Given the description of an element on the screen output the (x, y) to click on. 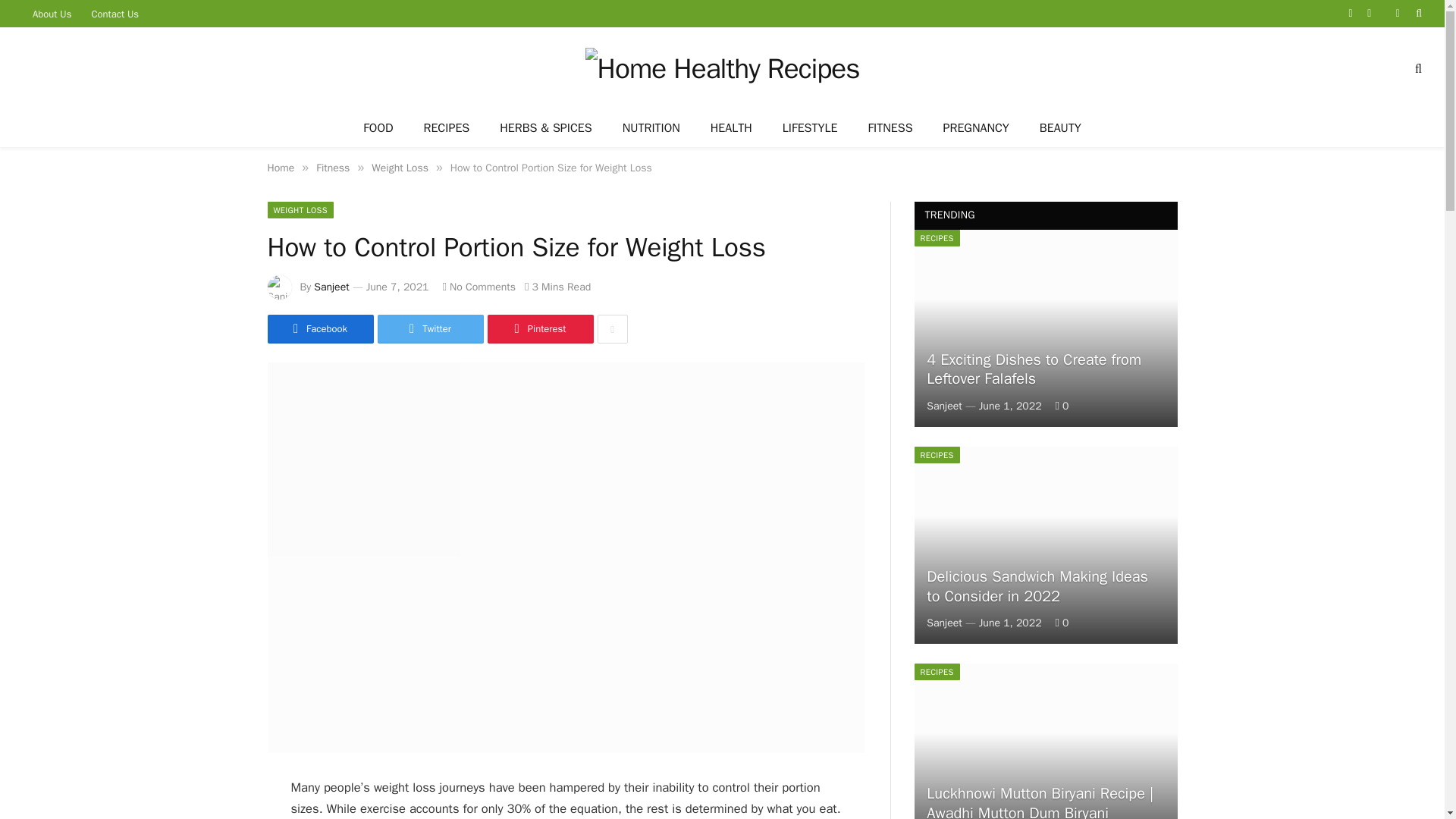
FOOD (377, 128)
Pinterest (539, 328)
Sanjeet (331, 286)
Twitter (430, 328)
WEIGHT LOSS (299, 209)
Switch to Dark Design - easier on eyes. (1397, 13)
Contact Us (114, 13)
Share on Twitter (430, 328)
Fitness (332, 167)
Share on Twitter (319, 328)
